Given the description of an element on the screen output the (x, y) to click on. 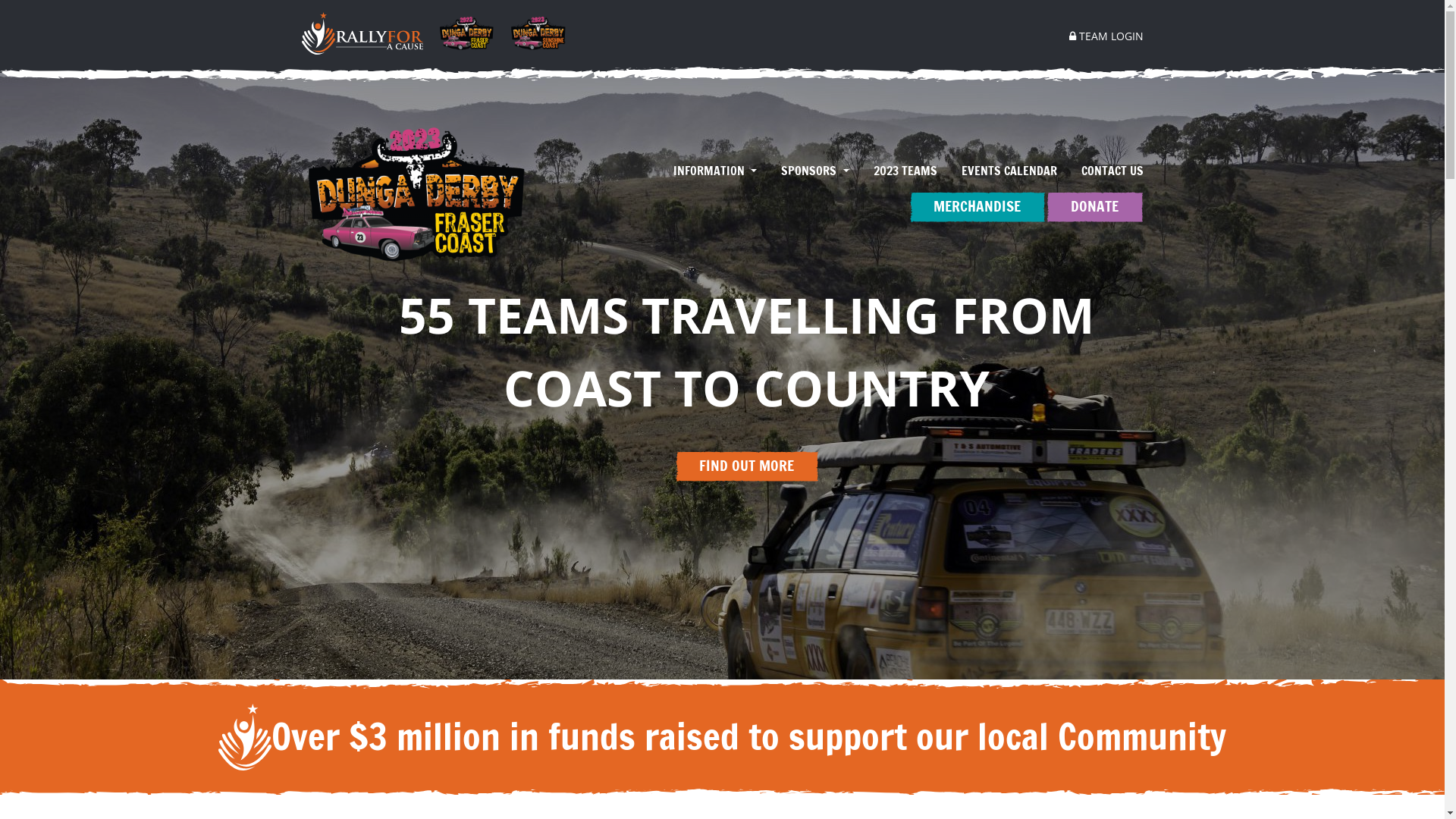
SPONSORS Element type: text (814, 170)
DONATE Element type: text (1093, 206)
CONTACT US Element type: text (1106, 170)
MERCHANDISE Element type: text (976, 206)
FIND OUT MORE Element type: text (746, 465)
TEAM LOGIN Element type: text (1100, 36)
2023 TEAMS Element type: text (905, 170)
INFORMATION Element type: text (714, 170)
EVENTS CALENDAR Element type: text (1009, 170)
